Given the description of an element on the screen output the (x, y) to click on. 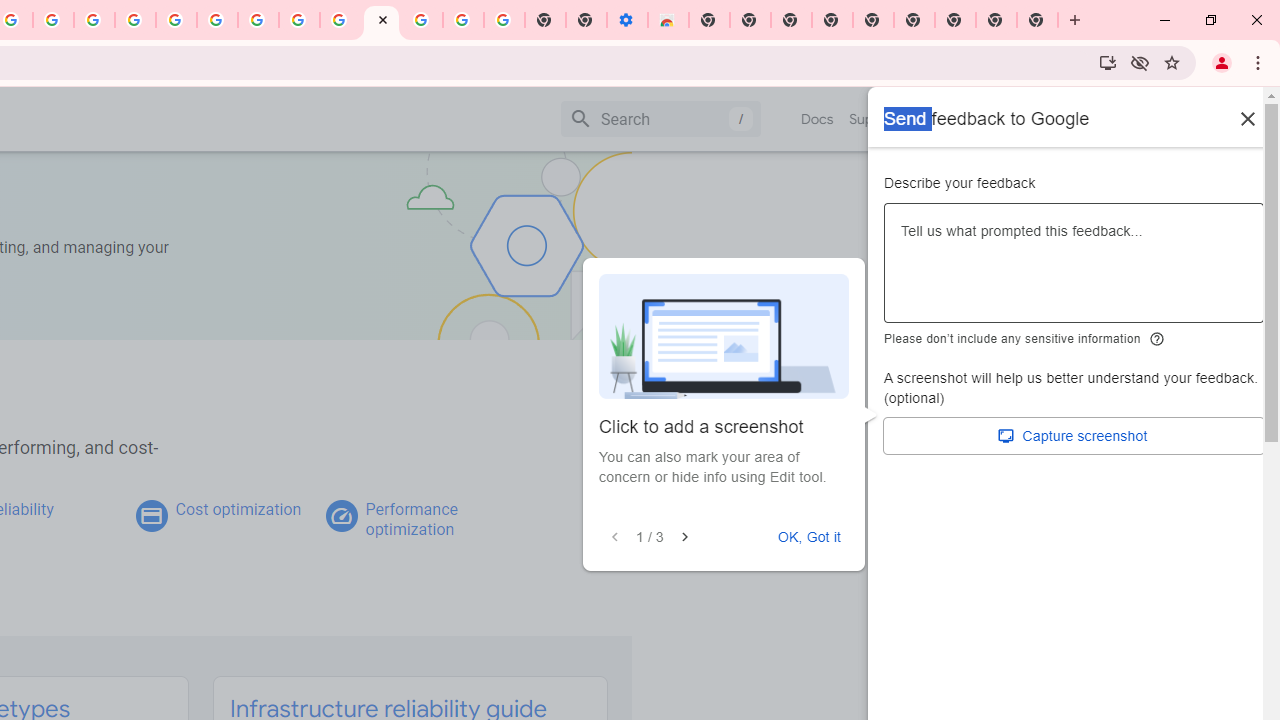
Sign in - Google Accounts (176, 20)
Google Account Help (217, 20)
Chrome Web Store - Accessibility extensions (667, 20)
New Tab (1037, 20)
Capture screenshot (1074, 436)
Start free (1191, 118)
Cost optimization (238, 509)
Docs (817, 119)
